Given the description of an element on the screen output the (x, y) to click on. 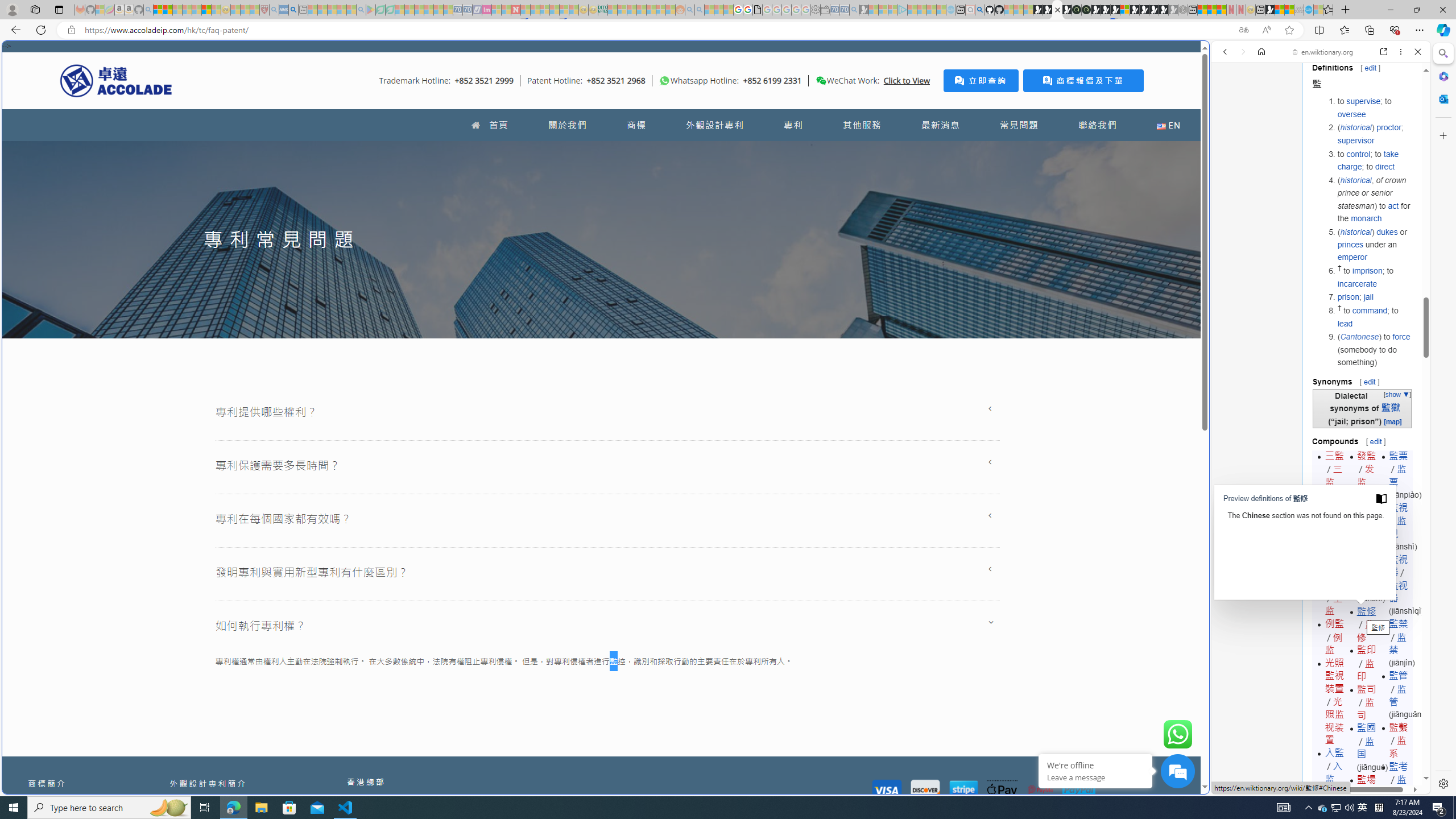
Play Cave FRVR in your browser | Games from Microsoft Start (1105, 9)
Home | Sky Blue Bikes - Sky Blue Bikes (1118, 242)
Play Cave FRVR in your browser | Games from Microsoft Start (922, 242)
MSNBC - MSN - Sleeping (611, 9)
World - MSN (1279, 9)
New tab (1259, 9)
